Given the description of an element on the screen output the (x, y) to click on. 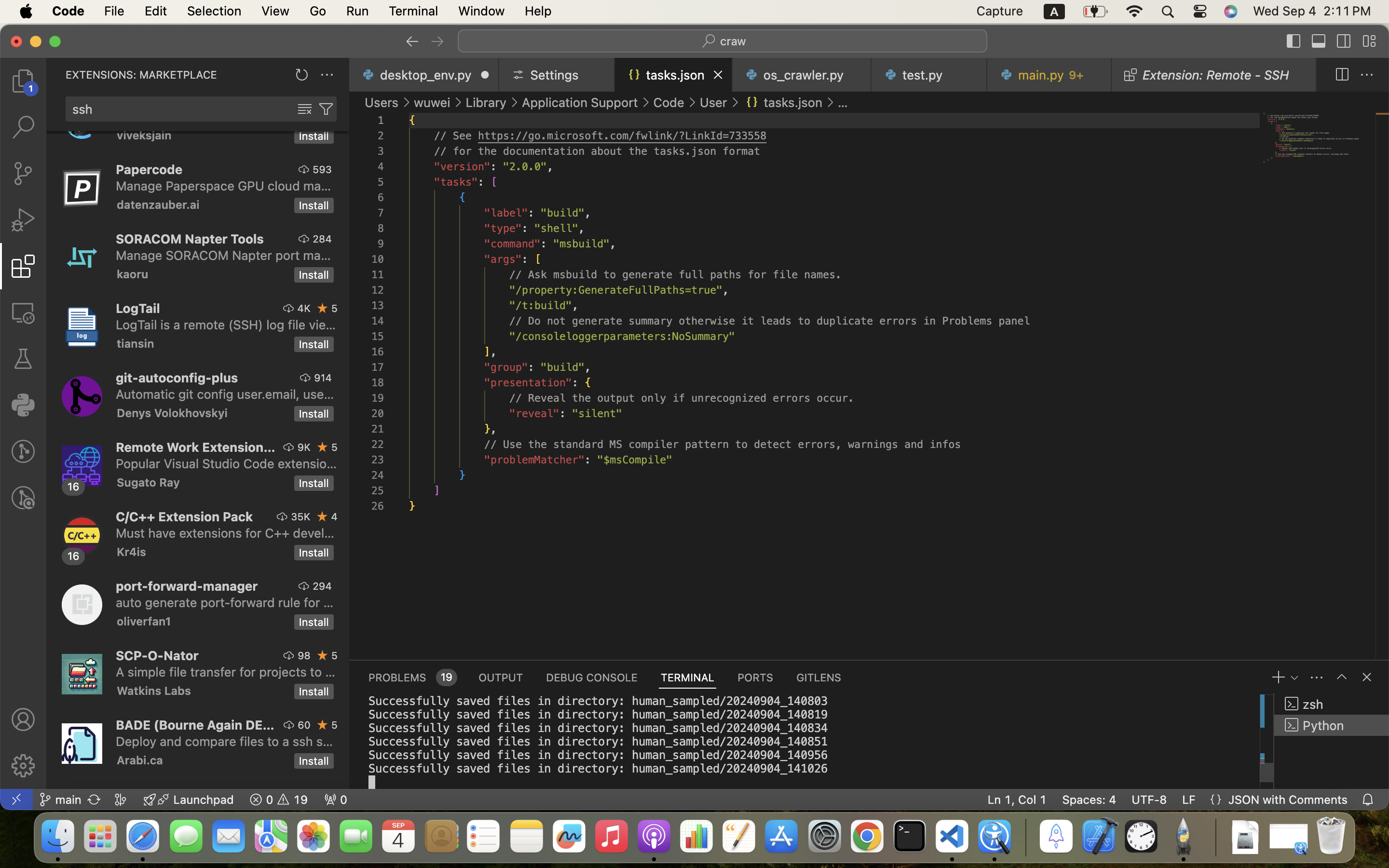
914 Element type: AXStaticText (322, 377)
Library Element type: AXGroup (486, 101)
C/C++ Extension Pack Element type: AXStaticText (184, 516)
0 OUTPUT Element type: AXRadioButton (500, 676)
9K Element type: AXStaticText (303, 446)
